Given the description of an element on the screen output the (x, y) to click on. 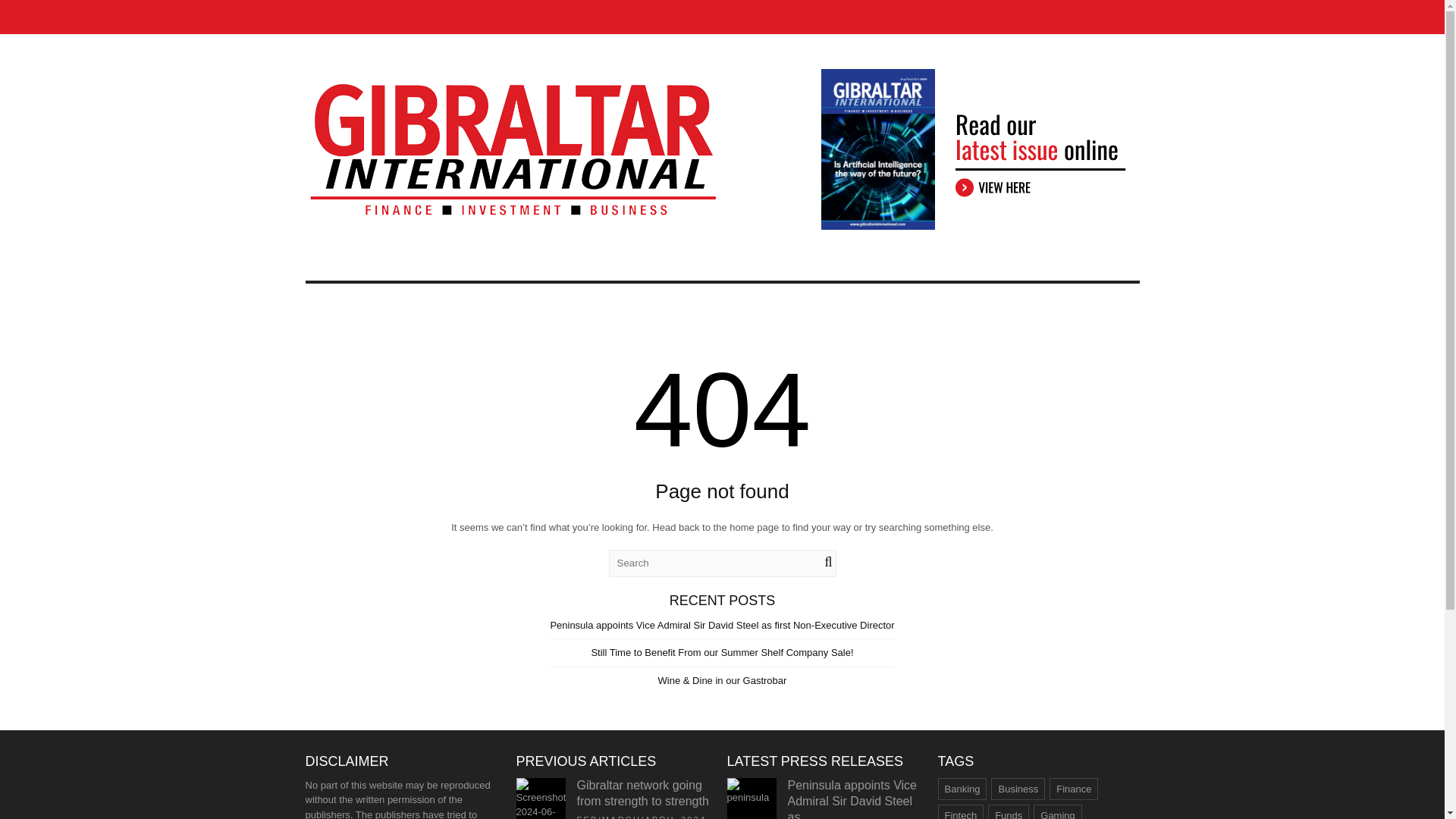
2 topics (1057, 811)
Finance (1073, 789)
5 topics (1008, 811)
Business (1018, 789)
Gaming (1057, 811)
Gibraltar International Magazine (512, 212)
2 topics (1073, 789)
Peninsula appoints Vice Admiral Sir David Steel as... (852, 798)
Still Time to Benefit From our Summer Shelf Company Sale! (722, 652)
Read Latest Issues (979, 149)
